Given the description of an element on the screen output the (x, y) to click on. 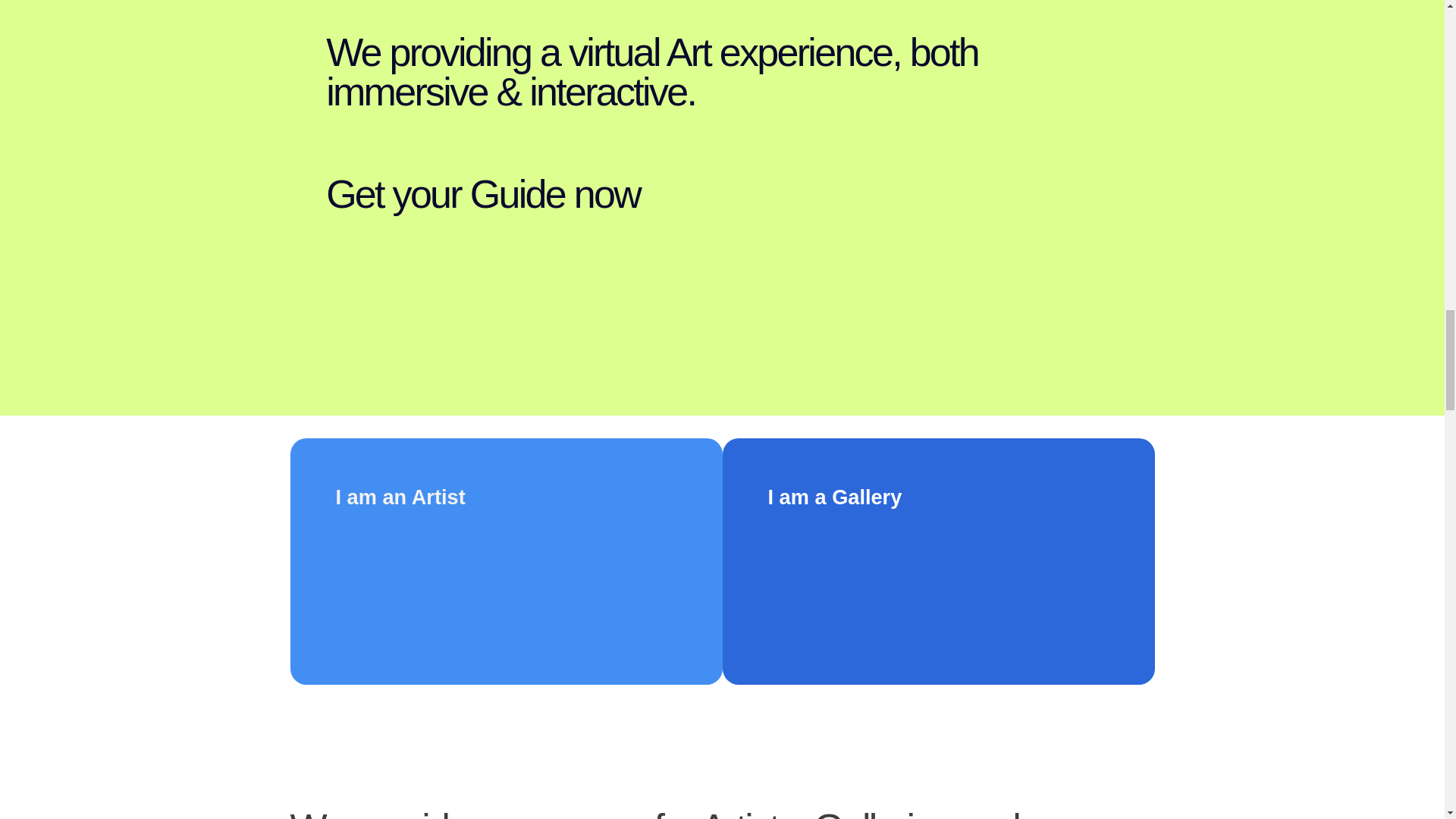
Form 0 (505, 582)
Form 1 (937, 582)
